Given the description of an element on the screen output the (x, y) to click on. 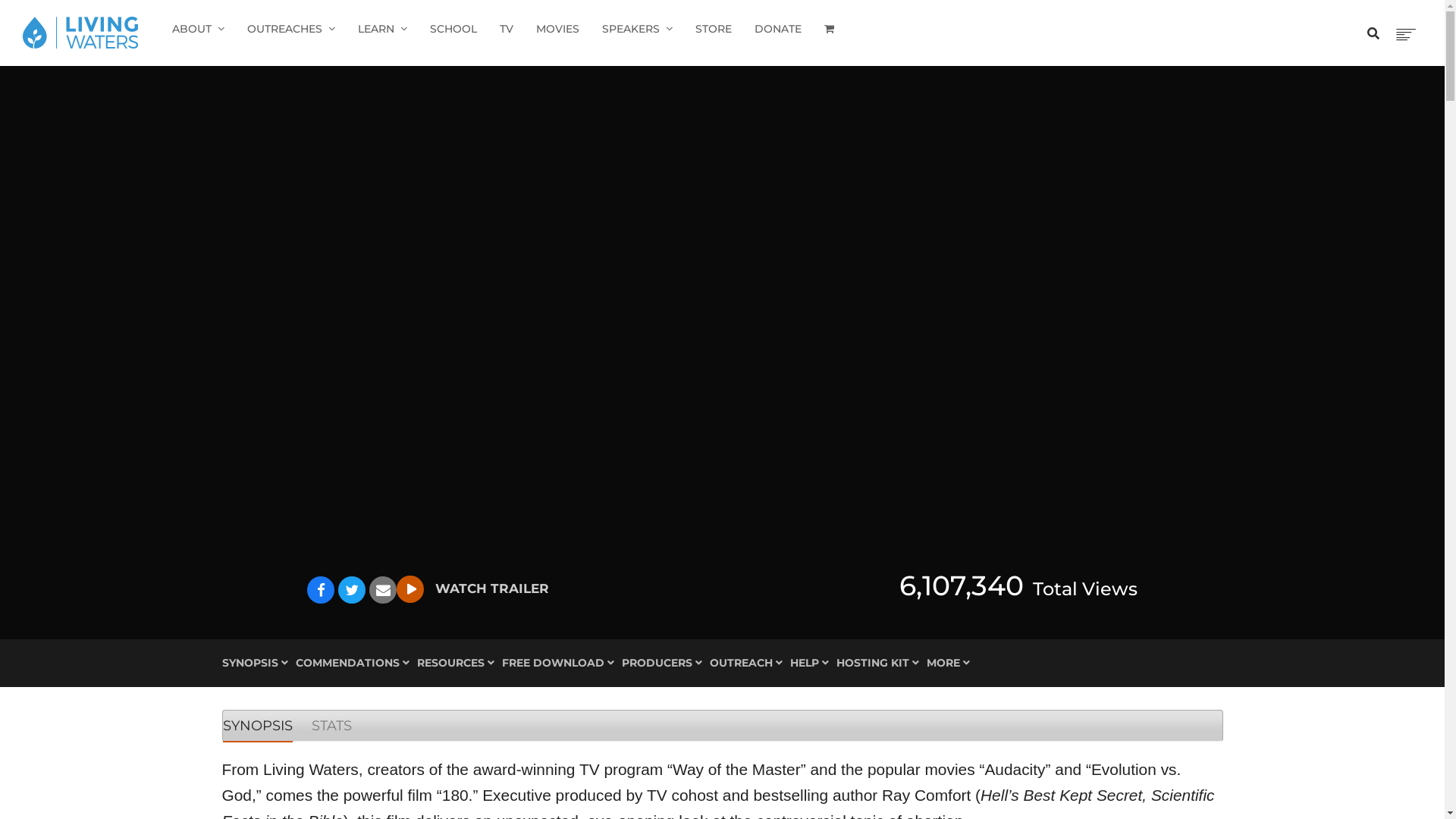
WATCH TRAILER Element type: text (472, 587)
PRODUCERS Element type: text (661, 662)
RESOURCES Element type: text (455, 662)
STORE Element type: text (713, 28)
MOVIES Element type: text (557, 28)
Audacity Element type: text (1014, 769)
LEARN Element type: text (382, 28)
OUTREACH Element type: text (745, 662)
HELP Element type: text (809, 662)
TV Element type: text (506, 28)
HOSTING KIT Element type: text (876, 662)
SPEAKERS Element type: text (637, 28)
SYNOPSIS Element type: text (257, 726)
STATS Element type: text (330, 725)
Evolution vs. God Element type: text (700, 781)
FREE DOWNLOAD Element type: text (558, 662)
DONATE Element type: text (777, 28)
ABOUT Element type: text (197, 28)
Way of the Master Element type: text (736, 769)
COMMENDATIONS Element type: text (352, 662)
SYNOPSIS Element type: text (254, 662)
MORE Element type: text (947, 662)
SCHOOL Element type: text (453, 28)
OUTREACHES Element type: text (290, 28)
